Given the description of an element on the screen output the (x, y) to click on. 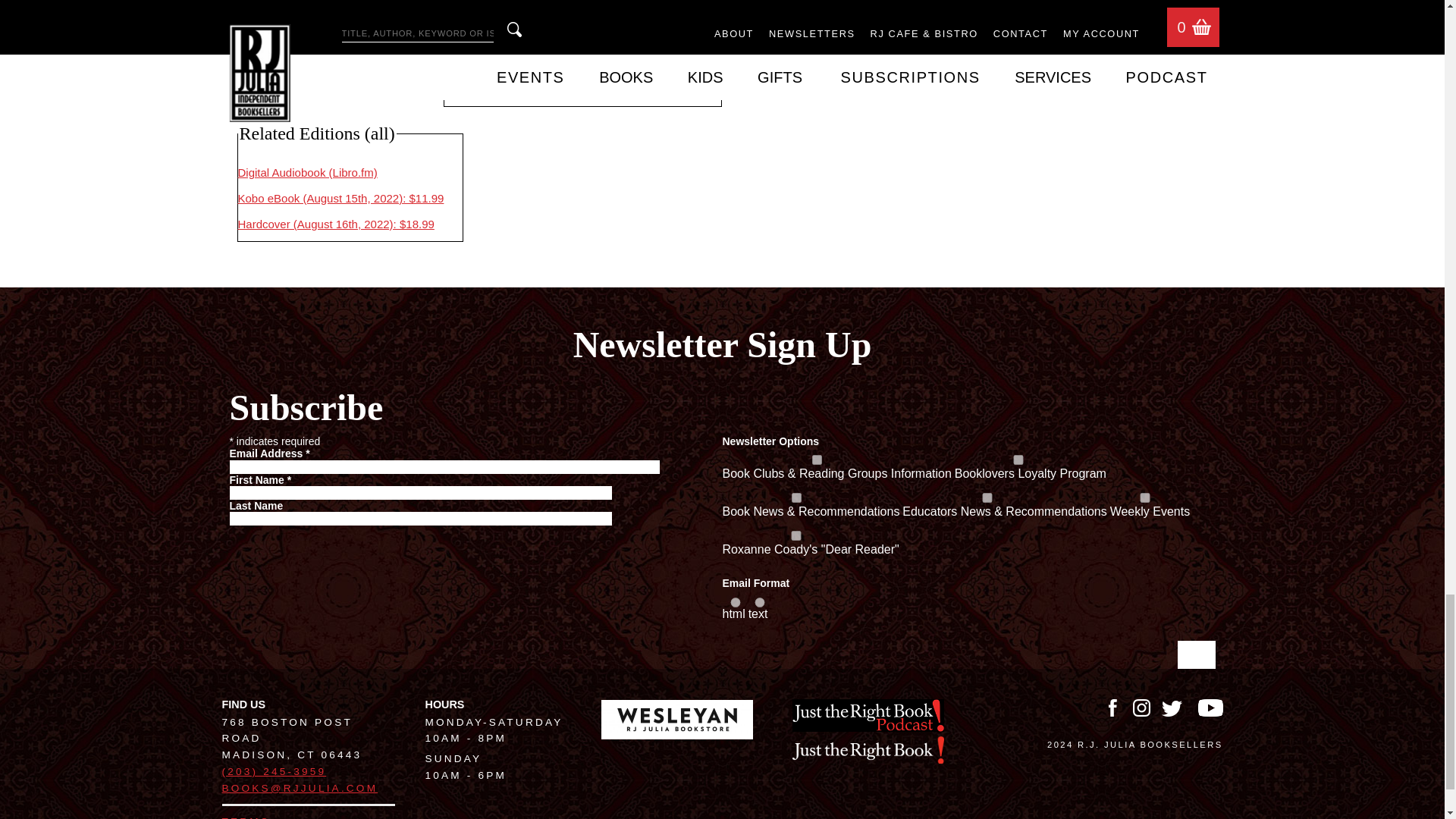
16 (795, 535)
Subscribe (1195, 654)
32 (1144, 497)
text (760, 602)
1 (816, 460)
4 (795, 497)
8 (986, 497)
2 (1018, 460)
html (735, 602)
